Given the description of an element on the screen output the (x, y) to click on. 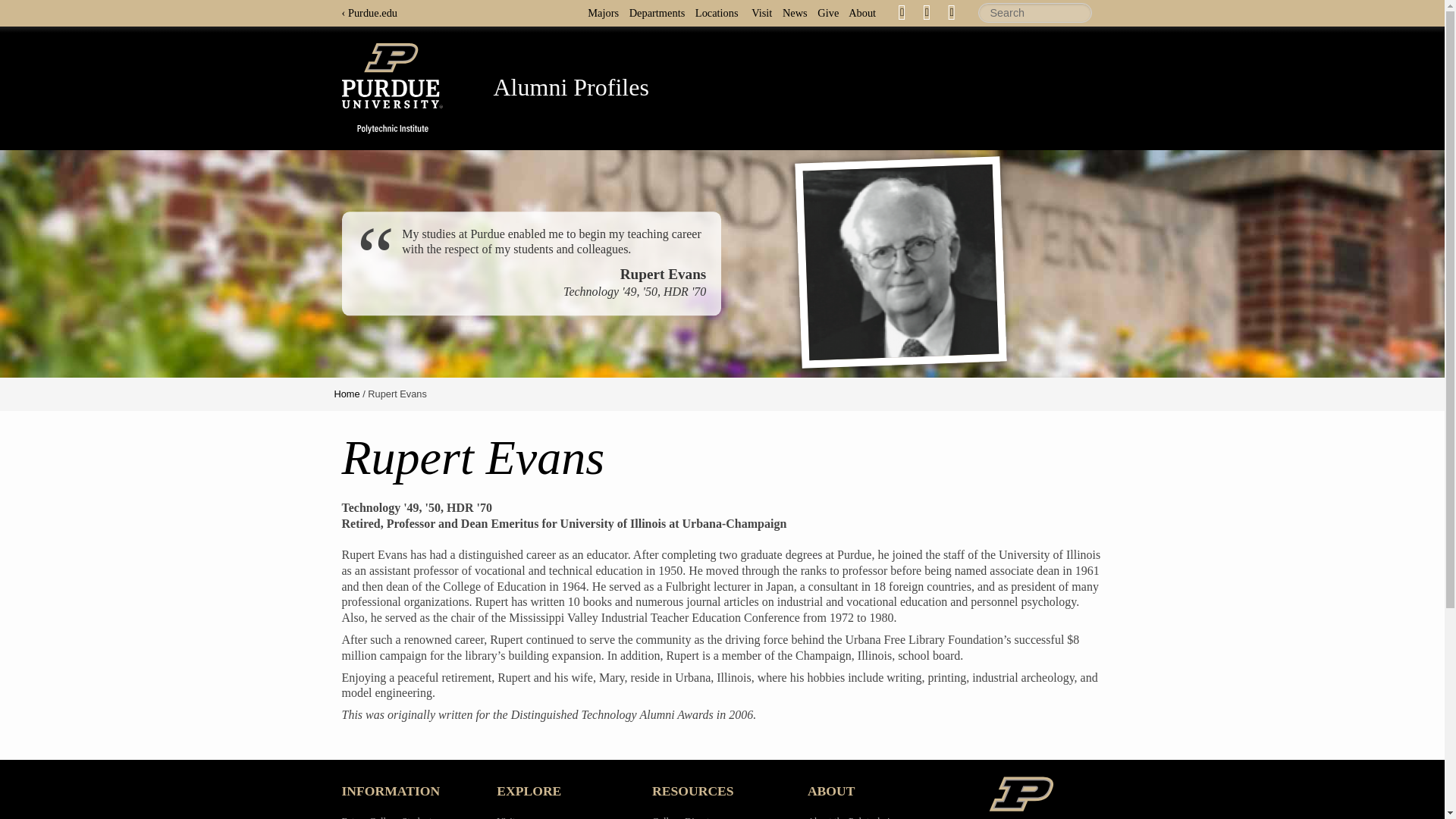
Give (830, 12)
Search (1035, 12)
College Directory (687, 817)
About (865, 12)
twitter link (926, 12)
Enter the terms you wish to search for. (1035, 12)
News (799, 12)
facebook link (901, 12)
Future College Students (387, 817)
Visit (505, 817)
Locations (720, 12)
Search (1035, 12)
instagram link (951, 12)
Visit (764, 12)
Link to twitter (926, 10)
